Given the description of an element on the screen output the (x, y) to click on. 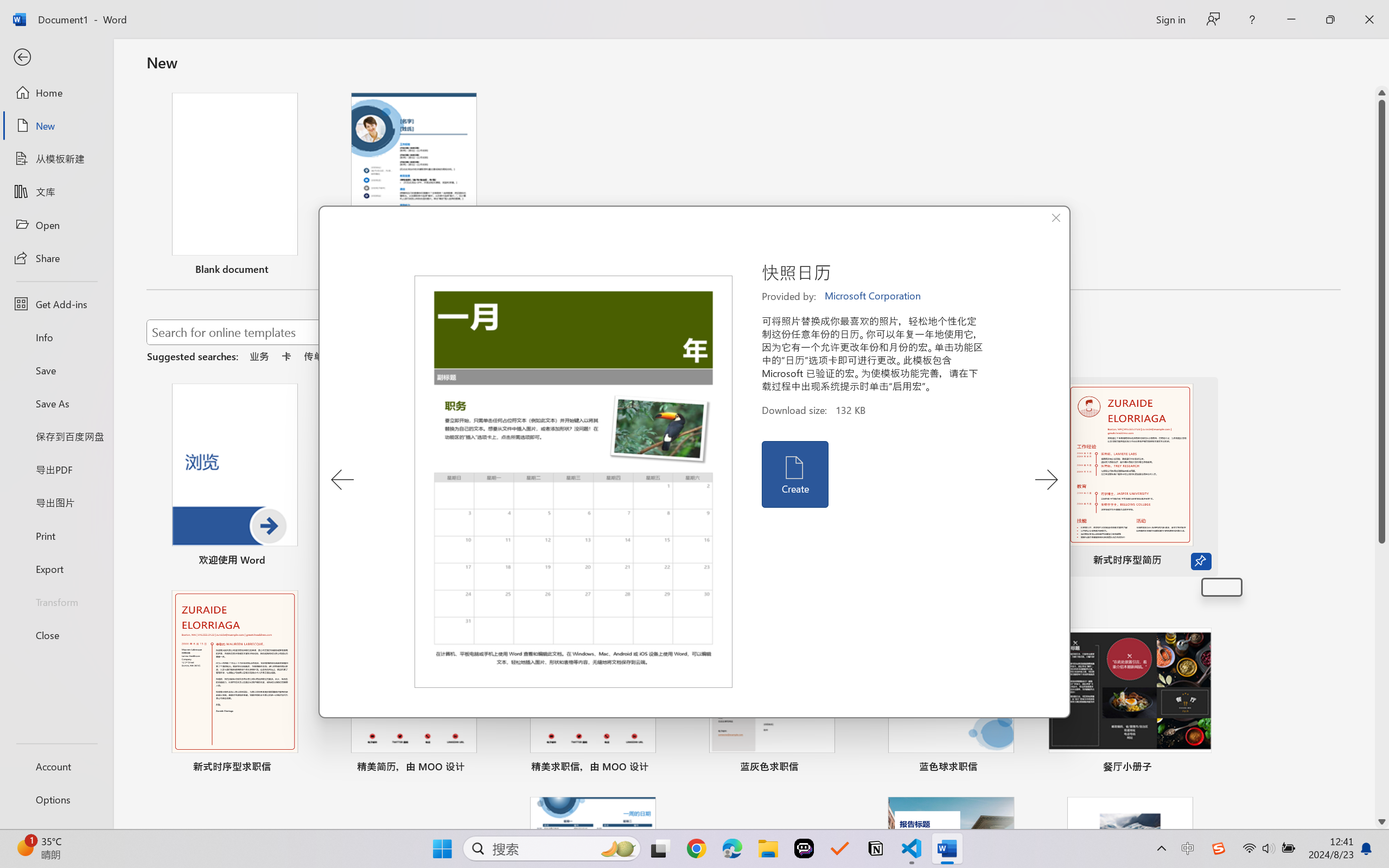
Blank document (234, 185)
Line down (1382, 821)
New (56, 125)
Pin to list (1200, 767)
Page down (1382, 679)
Preview (573, 481)
